Given the description of an element on the screen output the (x, y) to click on. 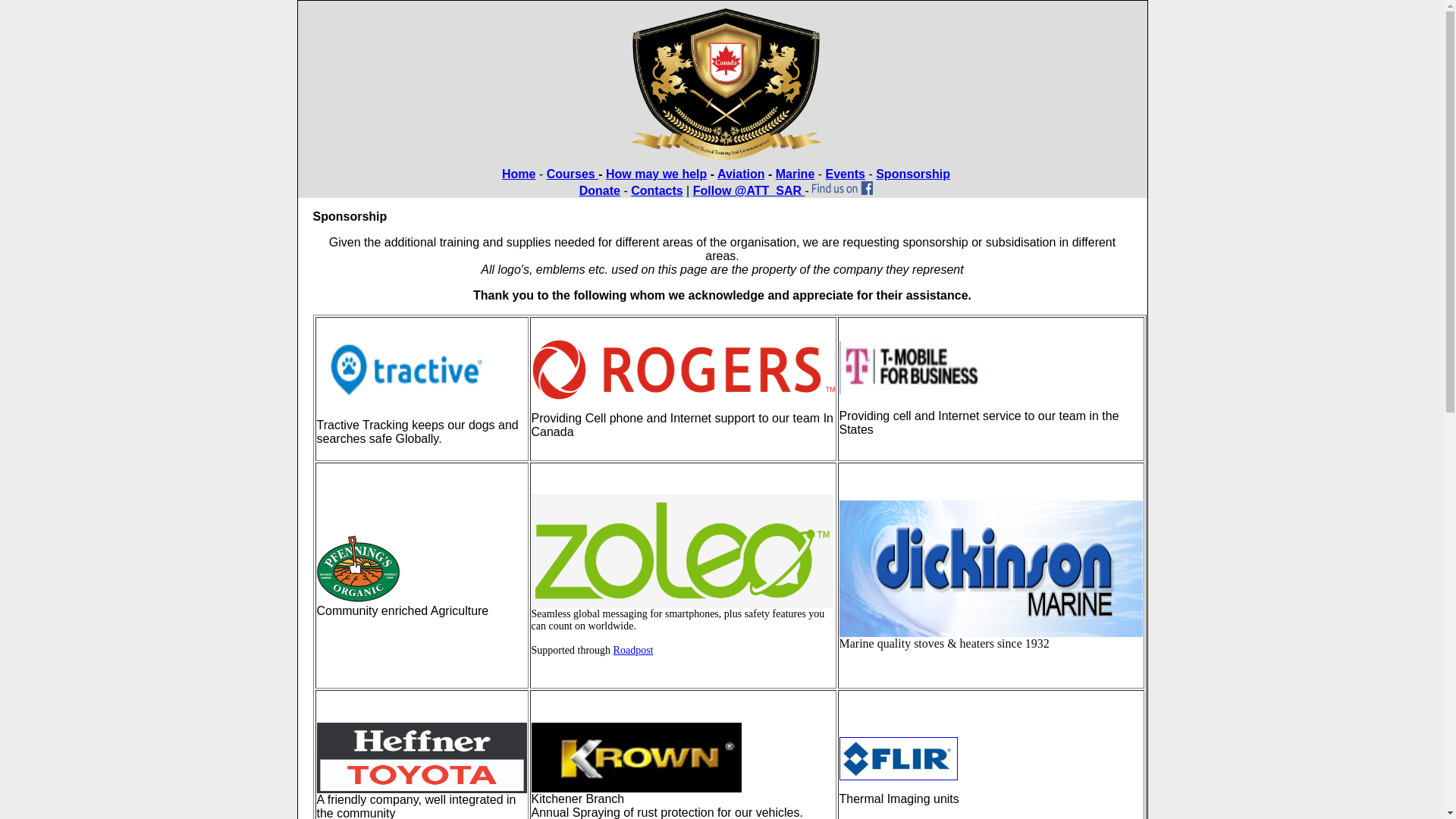
How may we help Element type: text (655, 173)
Roadpost Element type: text (633, 649)
Events Element type: text (844, 173)
Sponsorship Element type: text (912, 173)
Courses Element type: text (572, 173)
Contacts Element type: text (656, 190)
Donate Element type: text (599, 190)
Aviation Element type: text (741, 173)
Home Element type: text (518, 173)
Marine Element type: text (795, 173)
Follow @ATT_SAR Element type: text (749, 190)
